Given the description of an element on the screen output the (x, y) to click on. 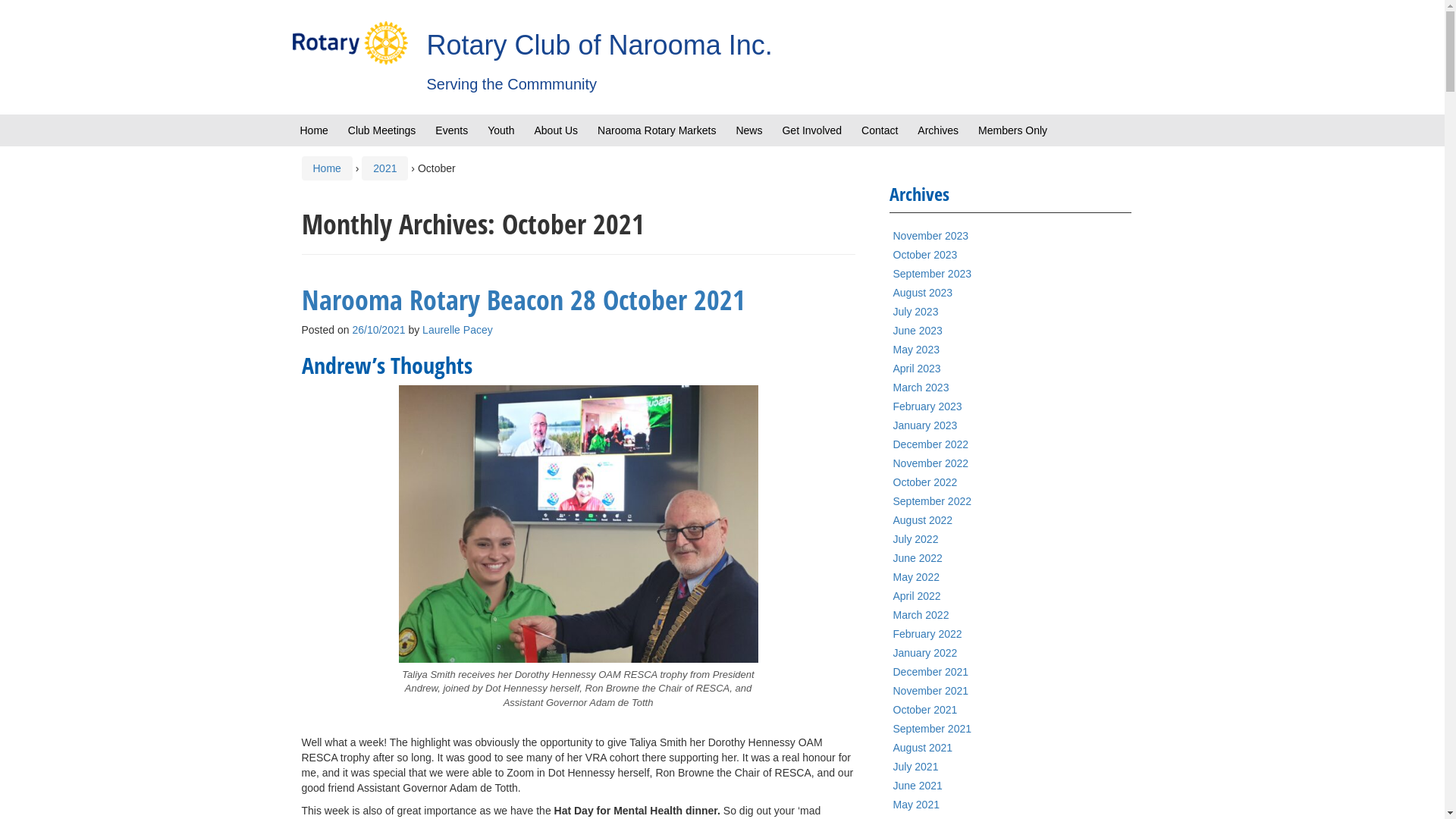
April 2022 Element type: text (917, 595)
Laurelle Pacey Element type: text (457, 329)
June 2023 Element type: text (917, 330)
Home Element type: text (314, 130)
July 2021 Element type: text (915, 766)
November 2021 Element type: text (931, 690)
March 2022 Element type: text (921, 614)
November 2022 Element type: text (931, 463)
Archives Element type: text (937, 130)
Members Only Element type: text (1012, 130)
September 2022 Element type: text (932, 501)
January 2023 Element type: text (925, 425)
July 2022 Element type: text (915, 539)
26/10/2021 Element type: text (377, 329)
November 2023 Element type: text (931, 235)
About Us Element type: text (555, 130)
December 2022 Element type: text (931, 444)
Youth Element type: text (500, 130)
March 2023 Element type: text (921, 387)
June 2021 Element type: text (917, 785)
September 2023 Element type: text (932, 273)
February 2022 Element type: text (927, 633)
May 2022 Element type: text (916, 577)
January 2022 Element type: text (925, 652)
Rotary Club of Narooma Inc. Element type: text (598, 44)
June 2022 Element type: text (917, 558)
April 2023 Element type: text (917, 368)
Narooma Rotary Beacon 28 October 2021 Element type: text (523, 299)
Events Element type: text (451, 130)
Contact Element type: text (879, 130)
August 2021 Element type: text (923, 747)
May 2021 Element type: text (916, 804)
Narooma Rotary Markets Element type: text (656, 130)
Get Involved Element type: text (811, 130)
December 2021 Element type: text (931, 671)
July 2023 Element type: text (915, 311)
October 2023 Element type: text (925, 254)
Home Element type: text (326, 168)
August 2022 Element type: text (923, 520)
Club Meetings Element type: text (382, 130)
October 2021 Element type: text (925, 709)
News Element type: text (748, 130)
May 2023 Element type: text (916, 349)
October 2022 Element type: text (925, 482)
September 2021 Element type: text (932, 728)
February 2023 Element type: text (927, 406)
2021 Element type: text (384, 168)
August 2023 Element type: text (923, 292)
